Given the description of an element on the screen output the (x, y) to click on. 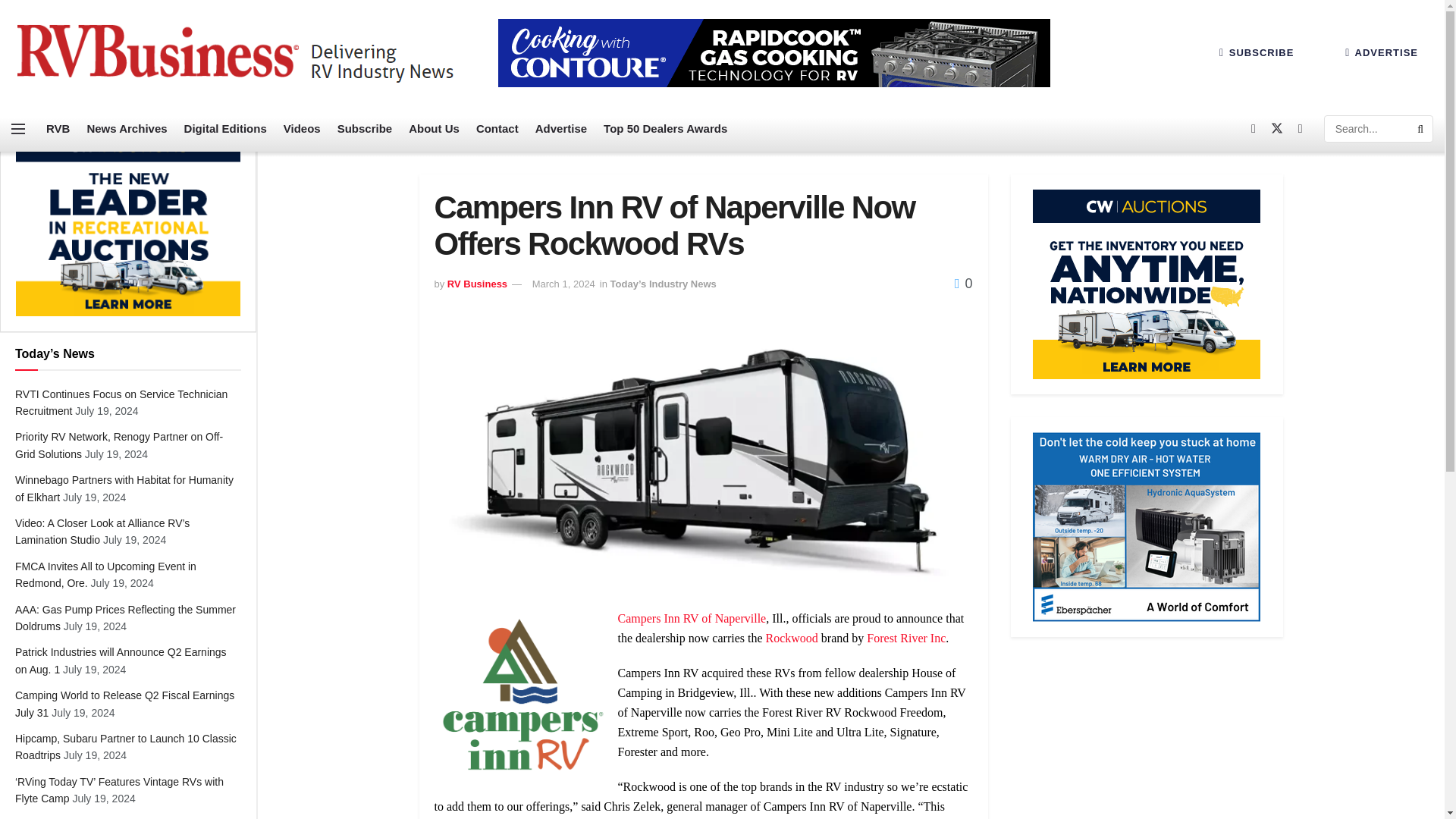
Advertise (560, 128)
ADVERTISE (1381, 52)
Contact (497, 128)
SUBSCRIBE (1256, 52)
News Archives (126, 128)
Digital Editions (225, 128)
AAA: Gas Pump Prices Reflecting the Summer Doldrums (124, 617)
Priority RV Network, Renogy Partner on Off-Grid Solutions (118, 444)
Top 50 Dealers Awards (665, 128)
About Us (434, 128)
Camping World to Release Q2 Fiscal Earnings July 31 (124, 703)
Subscribe (365, 128)
Patrick Industries will Announce Q2 Earnings on Aug. 1 (120, 660)
Hipcamp, Subaru Partner to Launch 10 Classic Roadtrips (124, 746)
Winnebago Partners with Habitat for Humanity of Elkhart (123, 488)
